Given the description of an element on the screen output the (x, y) to click on. 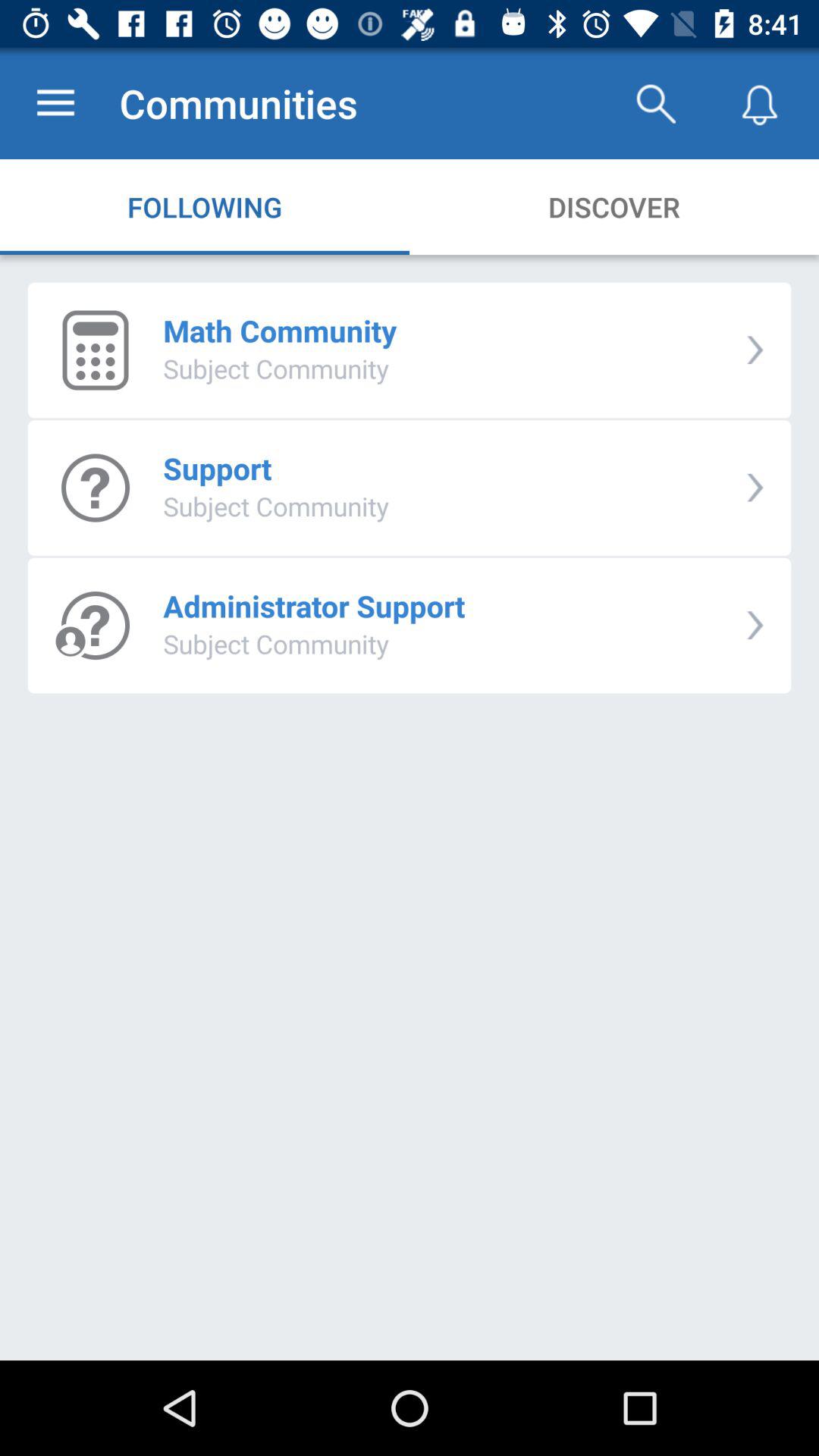
turn off the icon next to administrator support (755, 625)
